Given the description of an element on the screen output the (x, y) to click on. 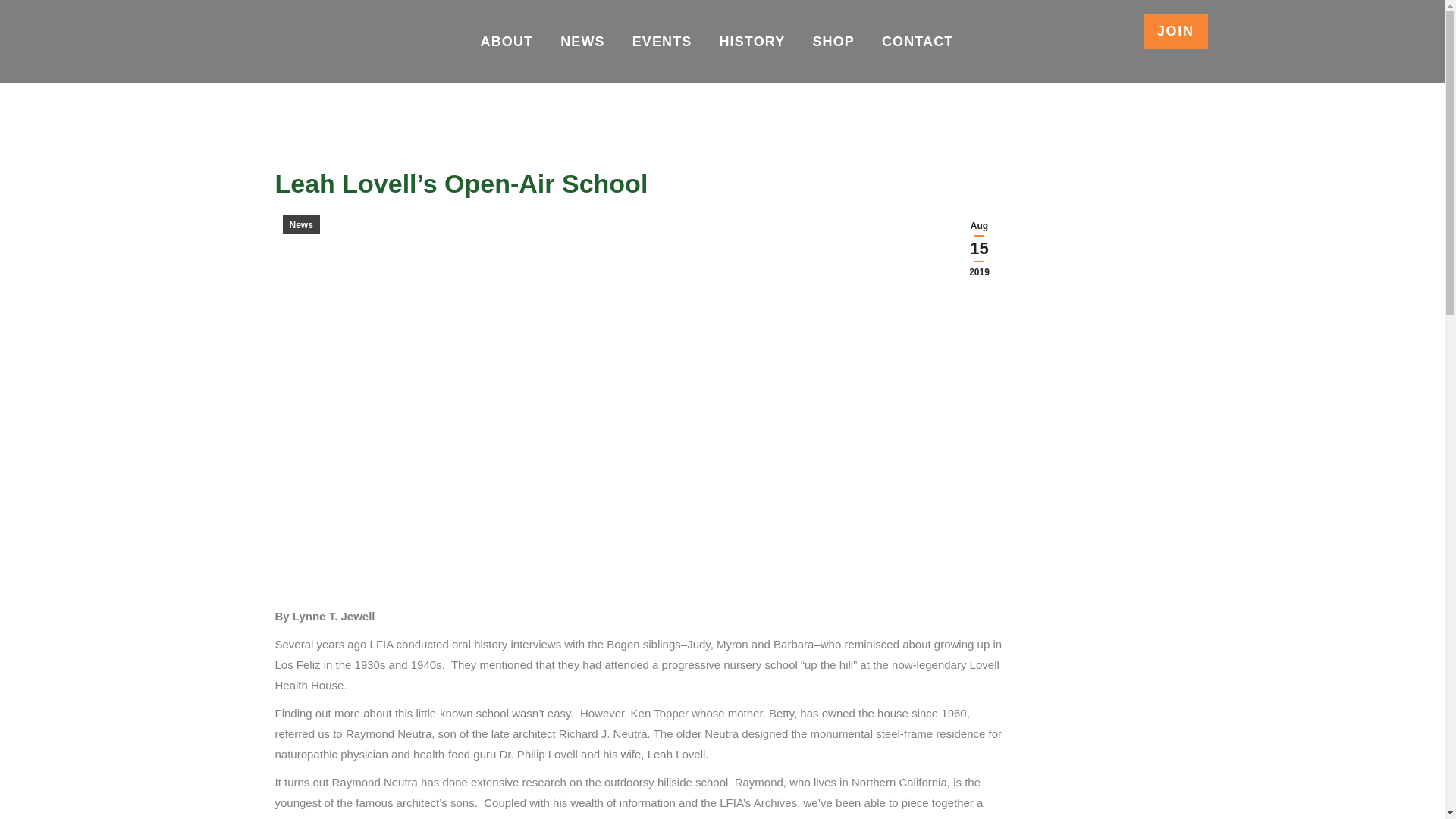
ABOUT (507, 41)
HISTORY (751, 41)
EVENTS (661, 41)
NEWS (582, 41)
JOIN (1175, 31)
CONTACT (917, 41)
